Given the description of an element on the screen output the (x, y) to click on. 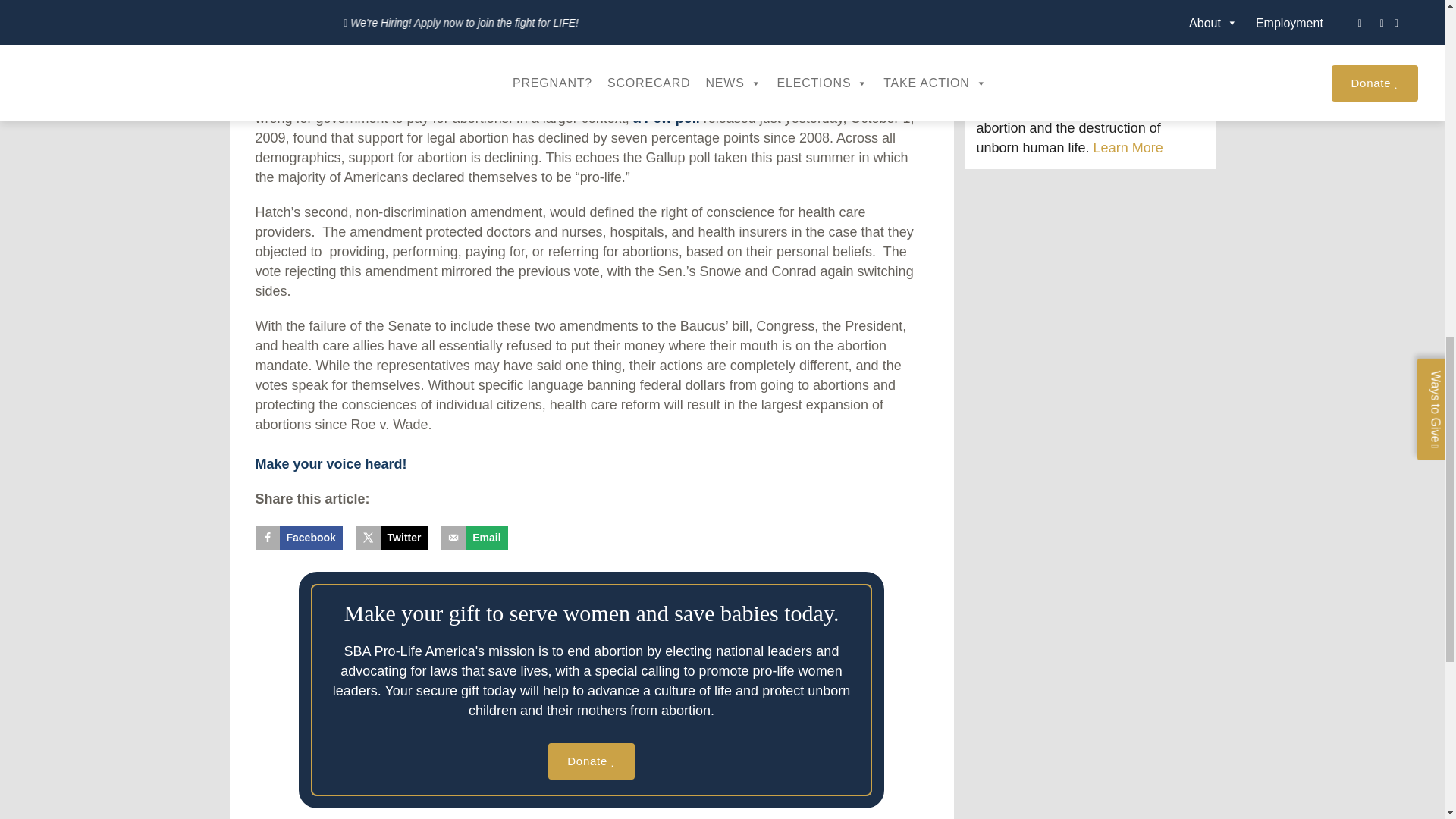
Share on Facebook (298, 537)
Send over email (473, 537)
Share on X (392, 537)
